Given the description of an element on the screen output the (x, y) to click on. 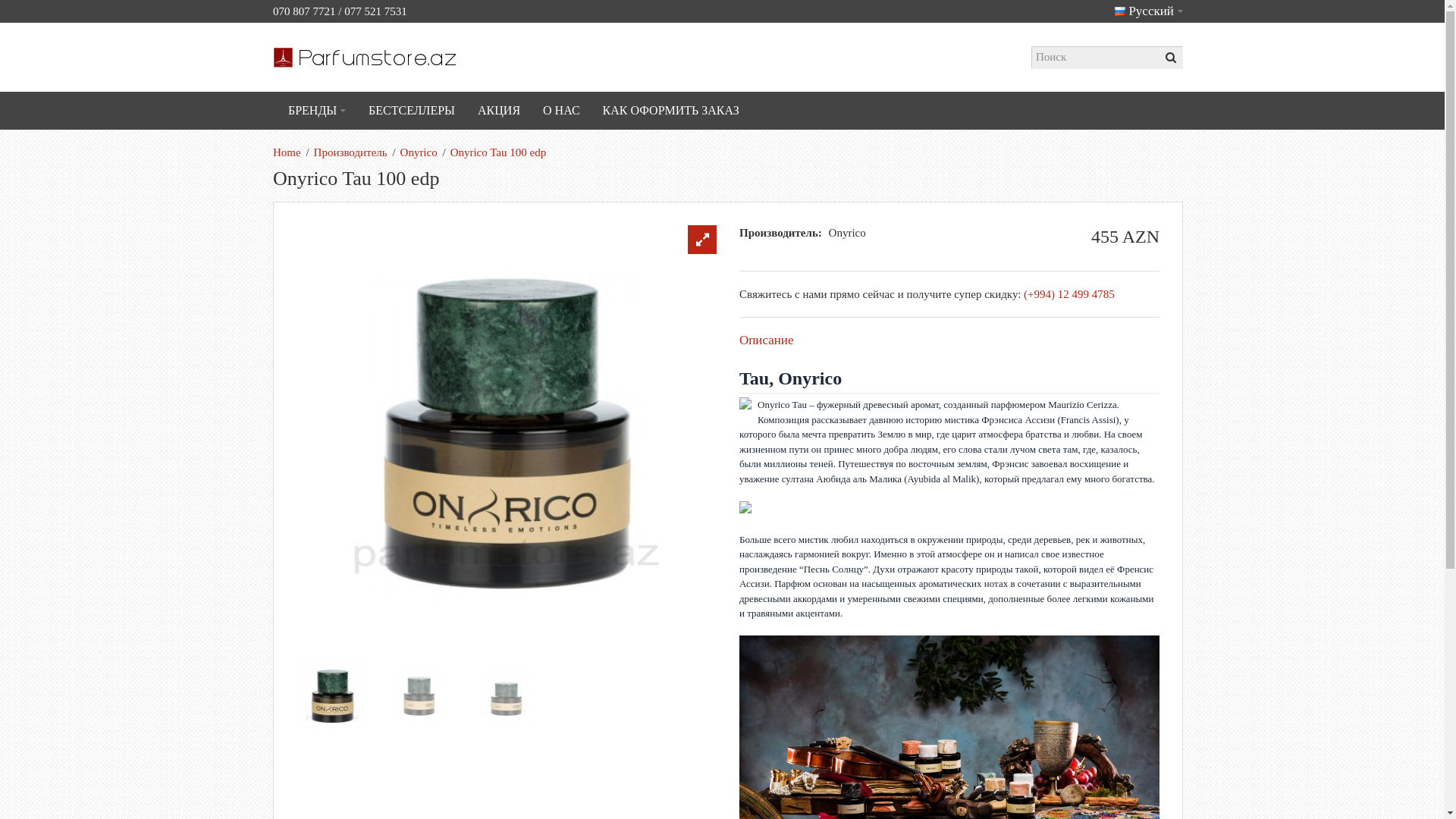
070 807 7721 Element type: text (304, 11)
Onyrico Element type: text (847, 232)
077 521 7531 Element type: text (375, 11)
Onyrico Tau 100 edp Element type: text (498, 152)
Onyrico Element type: text (418, 152)
(+994) 12 499 4785 Element type: text (1068, 294)
